Given the description of an element on the screen output the (x, y) to click on. 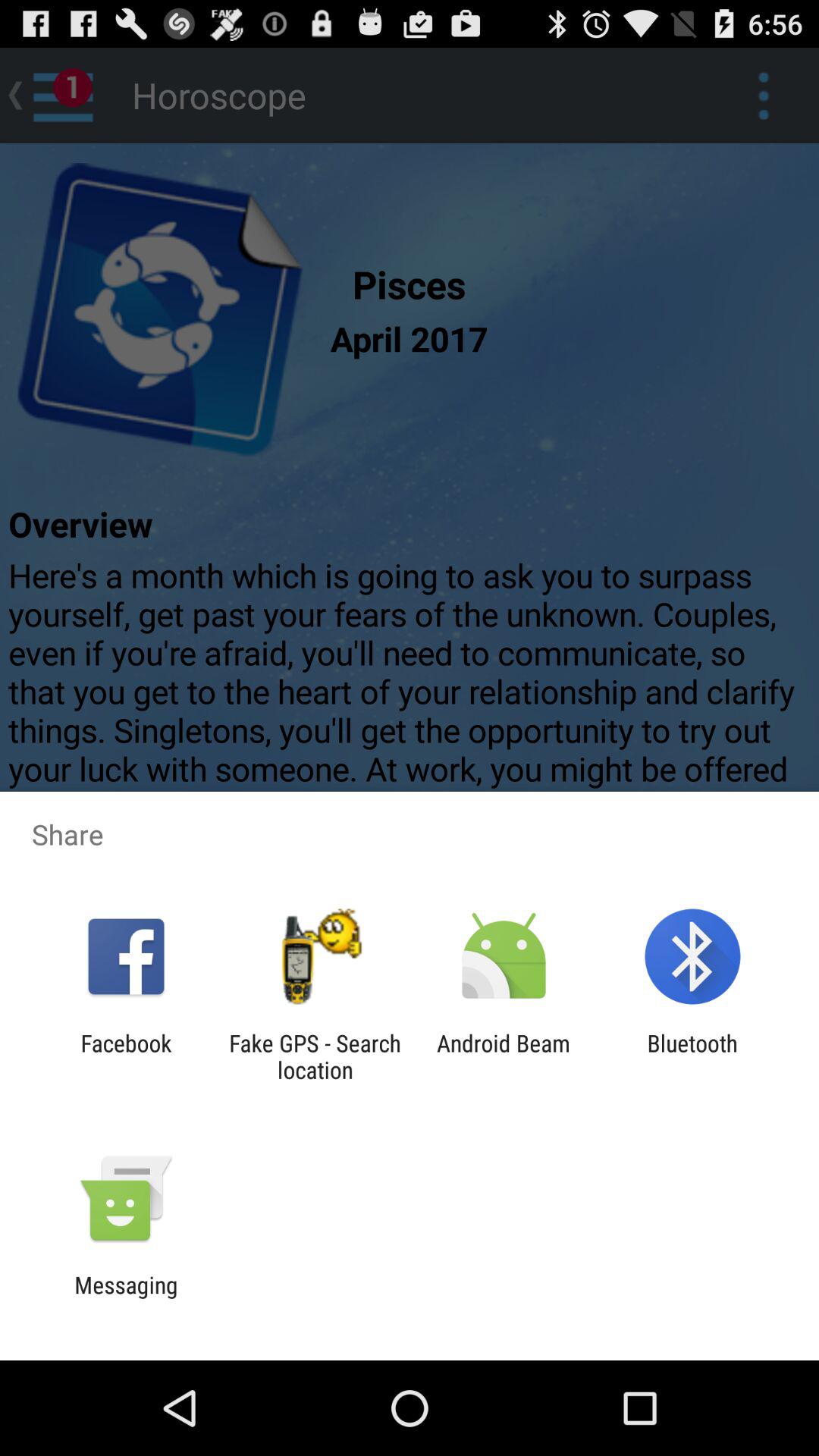
open app to the left of the fake gps search icon (125, 1056)
